Given the description of an element on the screen output the (x, y) to click on. 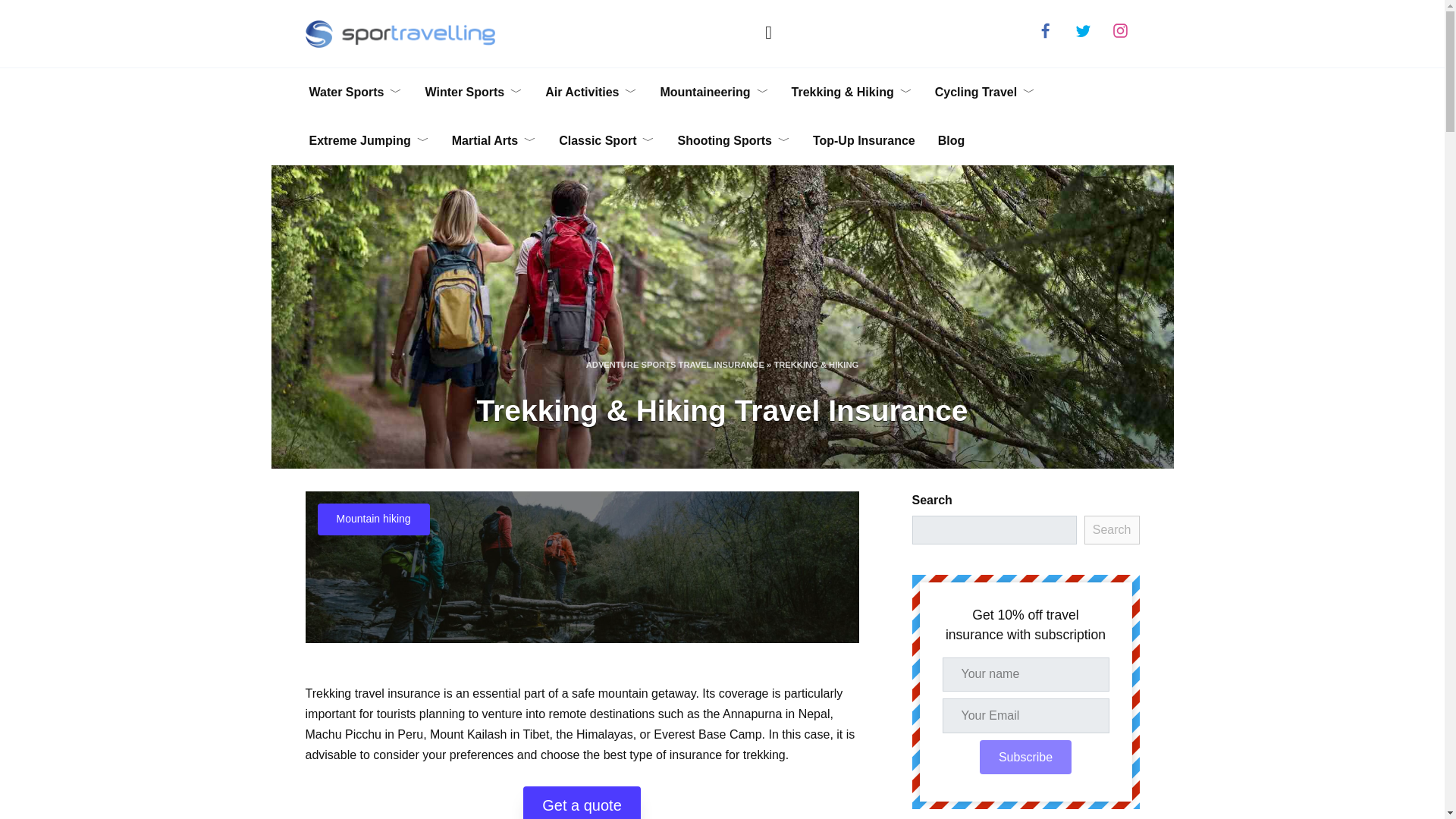
Cycling Travel (984, 92)
Subscribe (1025, 756)
Classic Sport (606, 141)
Extreme Jumping (368, 141)
Martial Arts (494, 141)
Water Sports (355, 92)
Mountaineering (712, 92)
Winter Sports (473, 92)
Air Activities (590, 92)
